Given the description of an element on the screen output the (x, y) to click on. 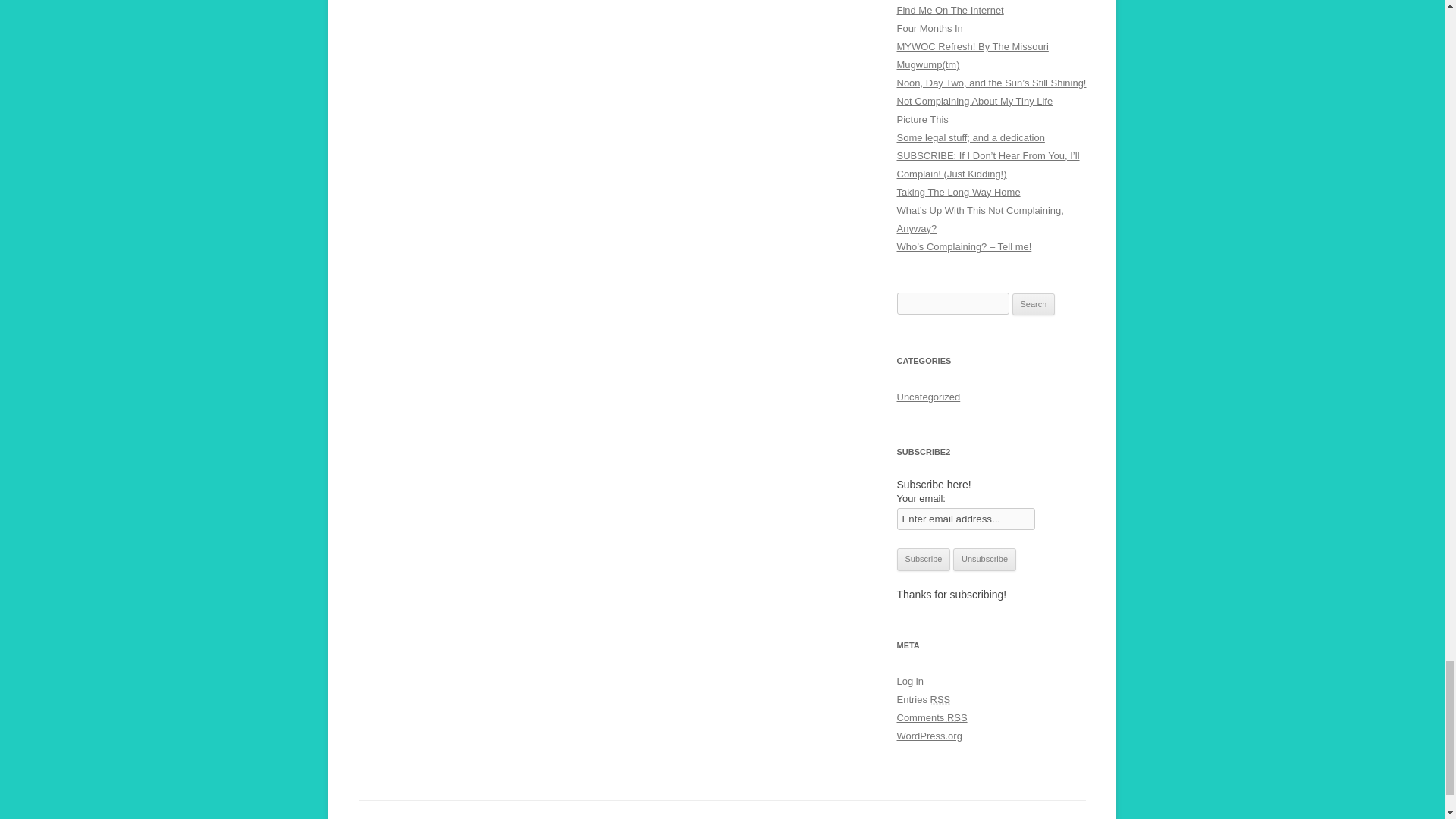
Subscribe (923, 558)
Search (1033, 304)
Unsubscribe (984, 558)
Really Simple Syndication (940, 699)
Really Simple Syndication (957, 717)
Enter email address... (965, 518)
